Given the description of an element on the screen output the (x, y) to click on. 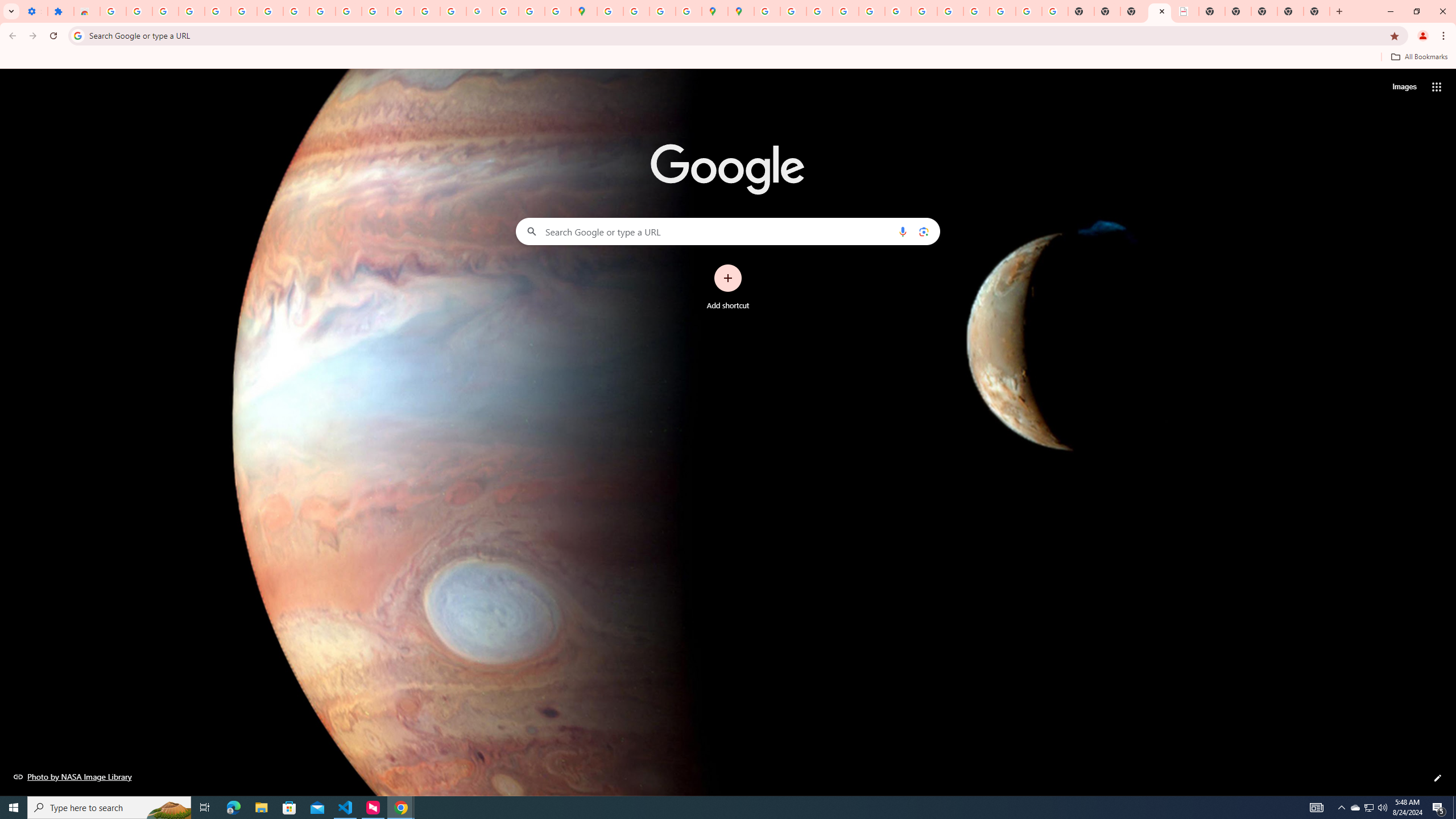
Photo by NASA Image Library (72, 776)
https://scholar.google.com/ (374, 11)
YouTube (923, 11)
Reviews: Helix Fruit Jump Arcade Game (86, 11)
Search Google or type a URL (727, 230)
Sign in - Google Accounts (243, 11)
